Given the description of an element on the screen output the (x, y) to click on. 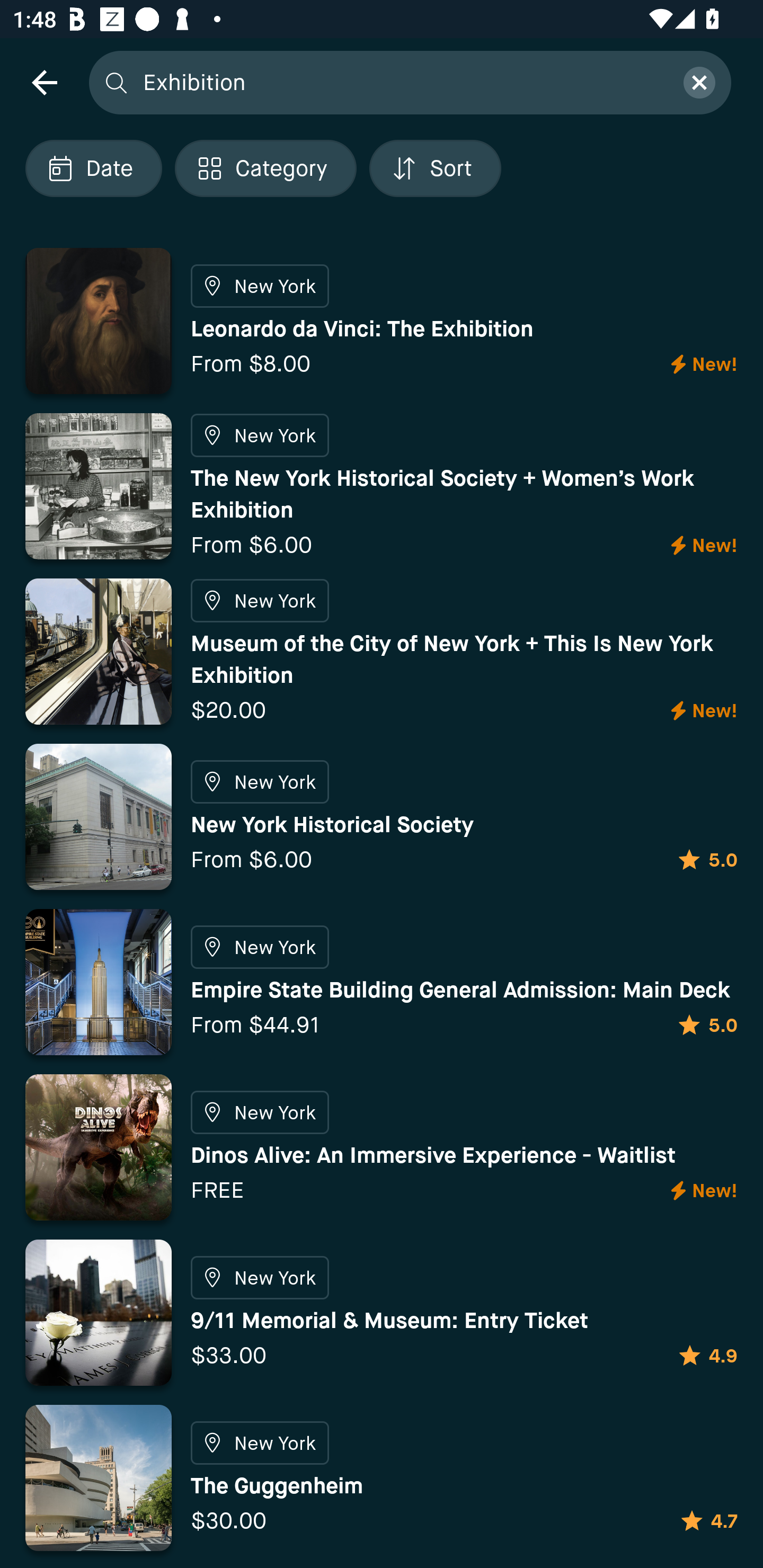
navigation icon (44, 81)
Exhibition (402, 81)
Localized description Date (93, 168)
Localized description Category (265, 168)
Localized description Sort (435, 168)
